Given the description of an element on the screen output the (x, y) to click on. 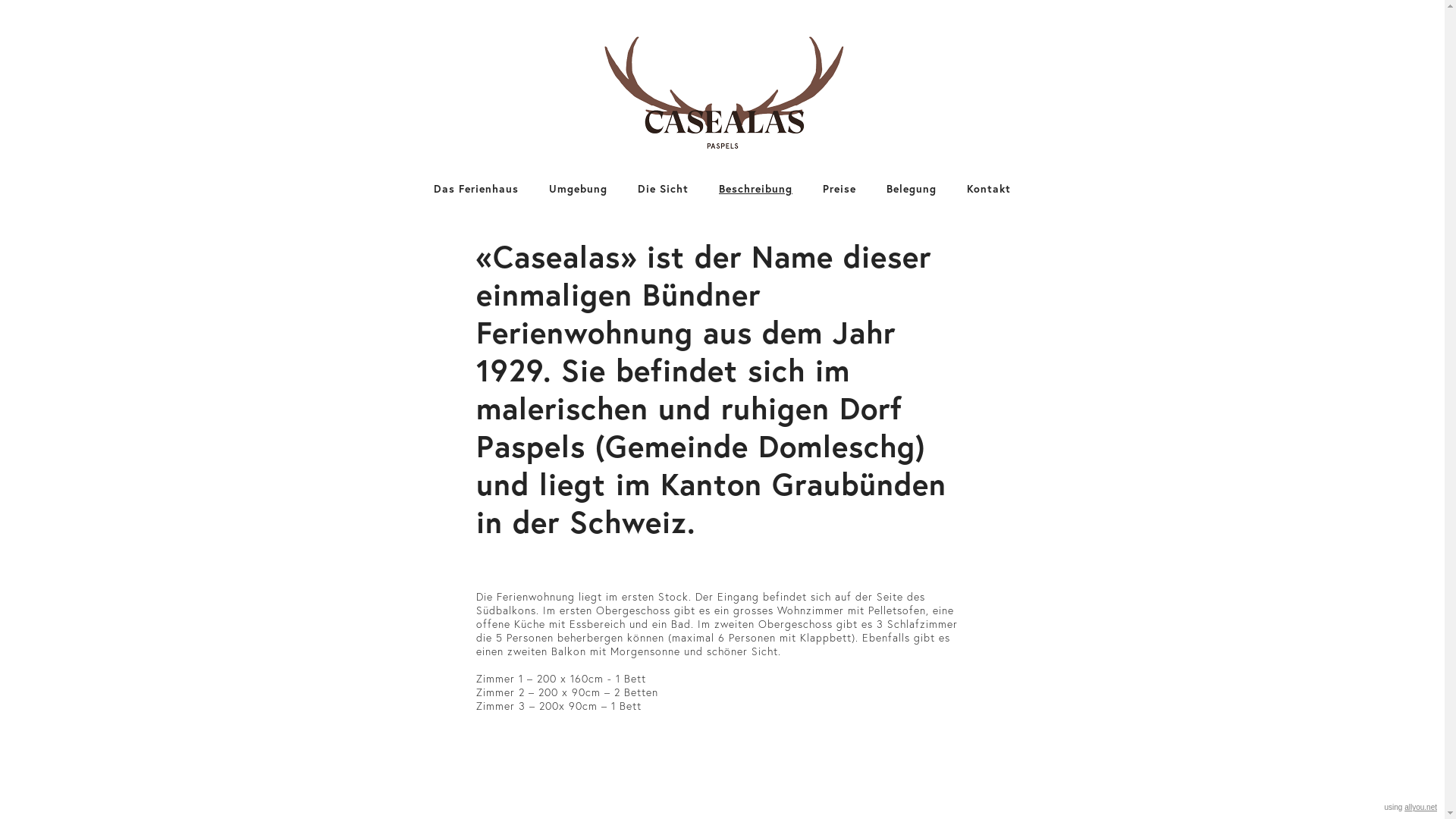
allyou.net Element type: text (1420, 807)
Die Sicht Element type: text (662, 188)
Umgebung Element type: text (578, 188)
Beschreibung Element type: text (755, 188)
Kontakt Element type: text (988, 188)
Belegung Element type: text (911, 188)
Das Ferienhaus Element type: text (475, 188)
Preise Element type: text (839, 188)
